Given the description of an element on the screen output the (x, y) to click on. 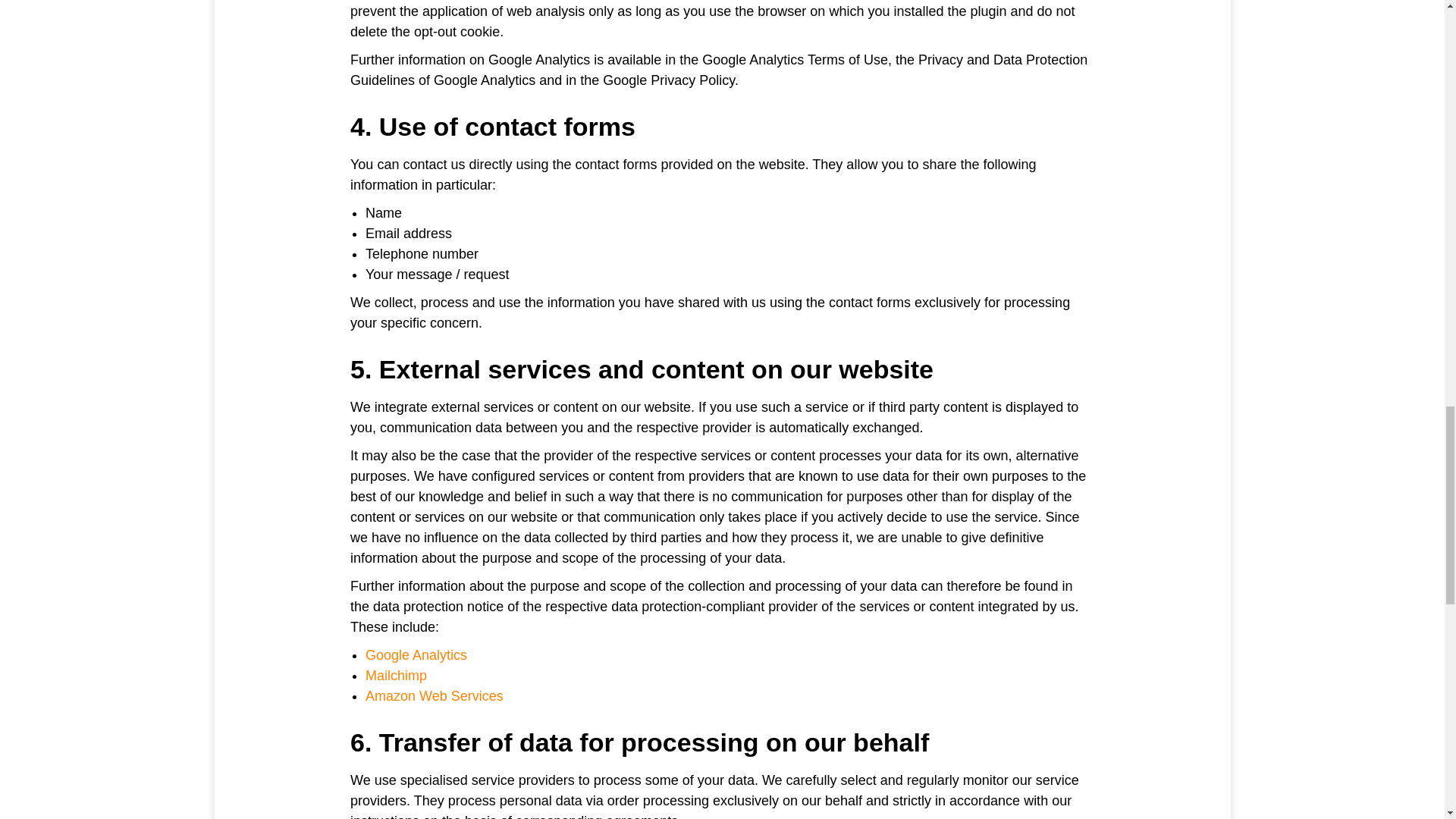
Amazon Web Services (434, 695)
Mailchimp (395, 675)
Google Analytics (416, 654)
